Given the description of an element on the screen output the (x, y) to click on. 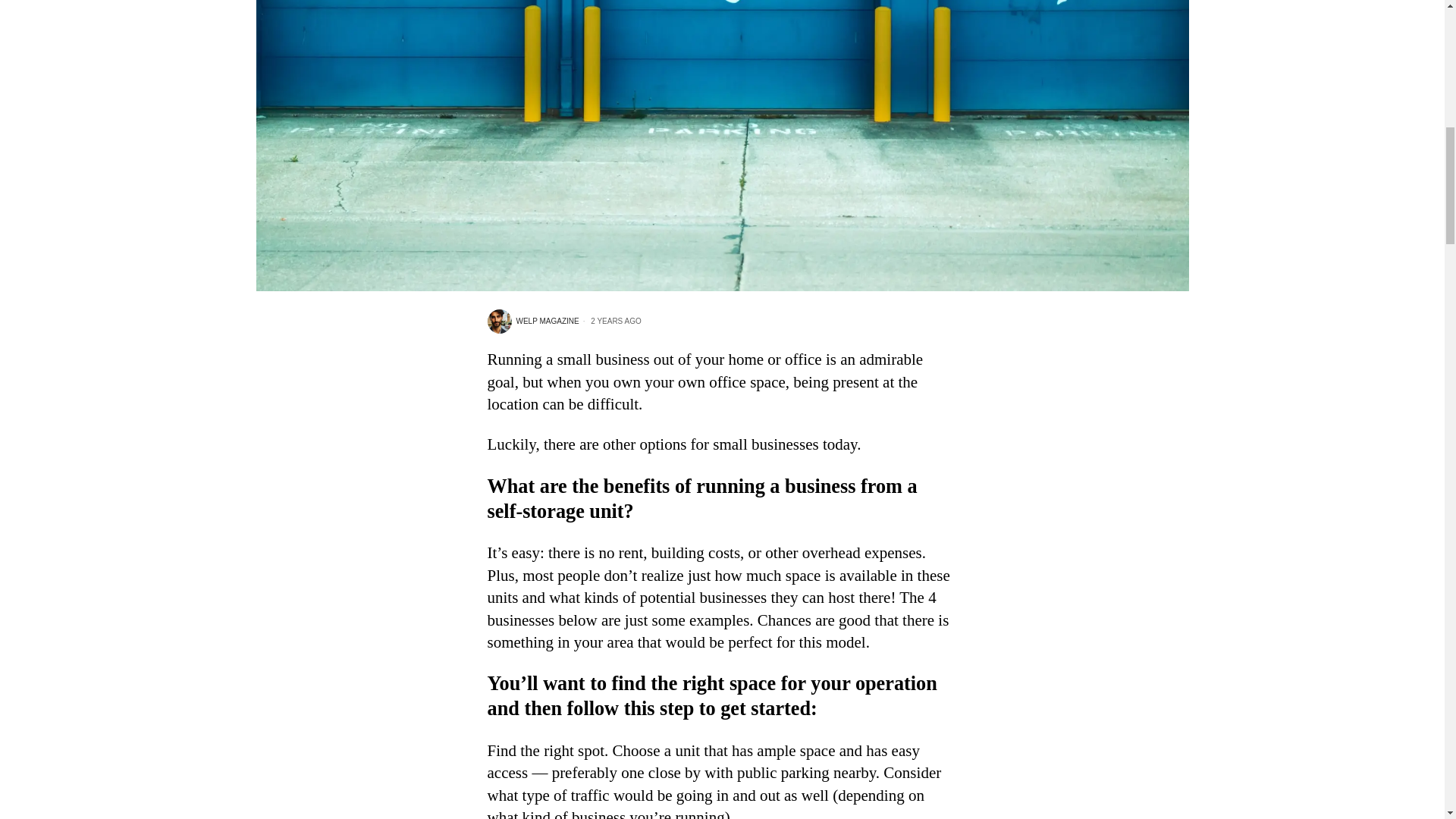
28 Apr, 2022 10:27:54 (610, 321)
WELP MAGAZINE (532, 321)
